Given the description of an element on the screen output the (x, y) to click on. 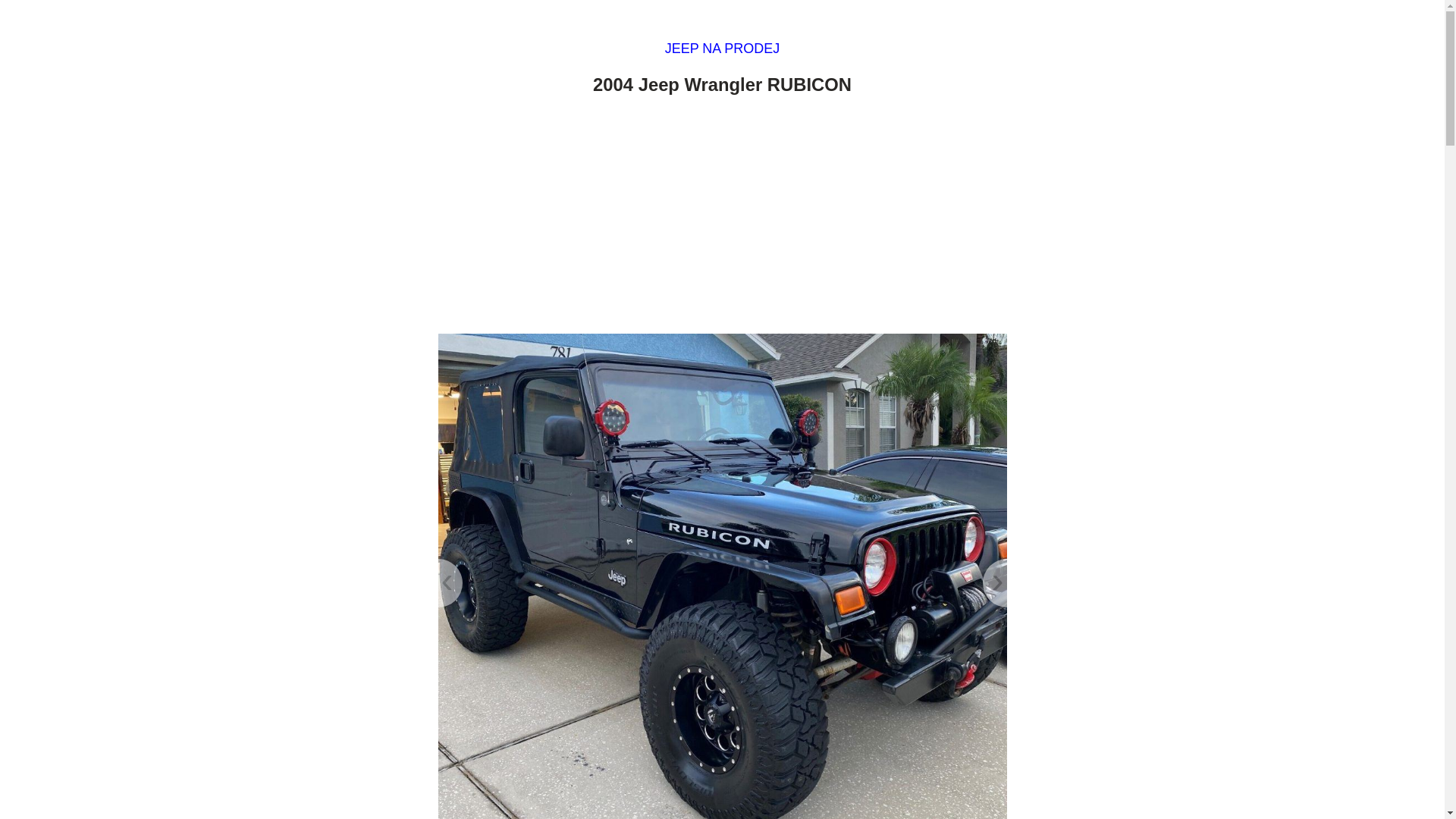
Advertisement (722, 218)
JEEP NA PRODEJ (722, 48)
